Given the description of an element on the screen output the (x, y) to click on. 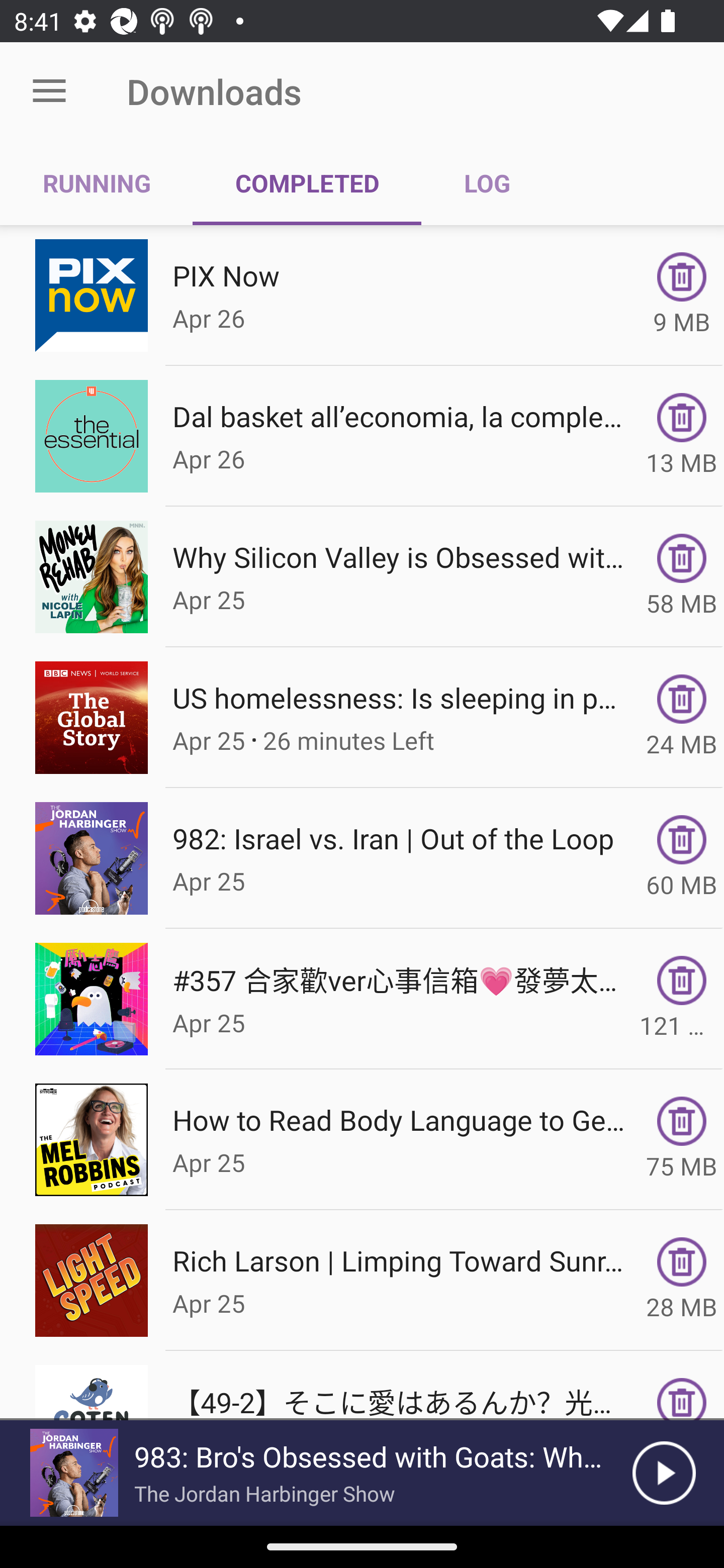
Open menu (49, 91)
RUNNING (96, 183)
COMPLETED (306, 183)
LOG (486, 183)
Picture PIX Now Apr 26 Remove Episode 9 MB (362, 295)
Remove Episode (681, 276)
Remove Episode (681, 417)
Remove Episode (681, 558)
Remove Episode (681, 699)
Remove Episode (681, 839)
Remove Episode (681, 980)
Remove Episode (681, 1121)
Remove Episode (681, 1262)
Remove Episode (681, 1399)
Play (663, 1472)
